Given the description of an element on the screen output the (x, y) to click on. 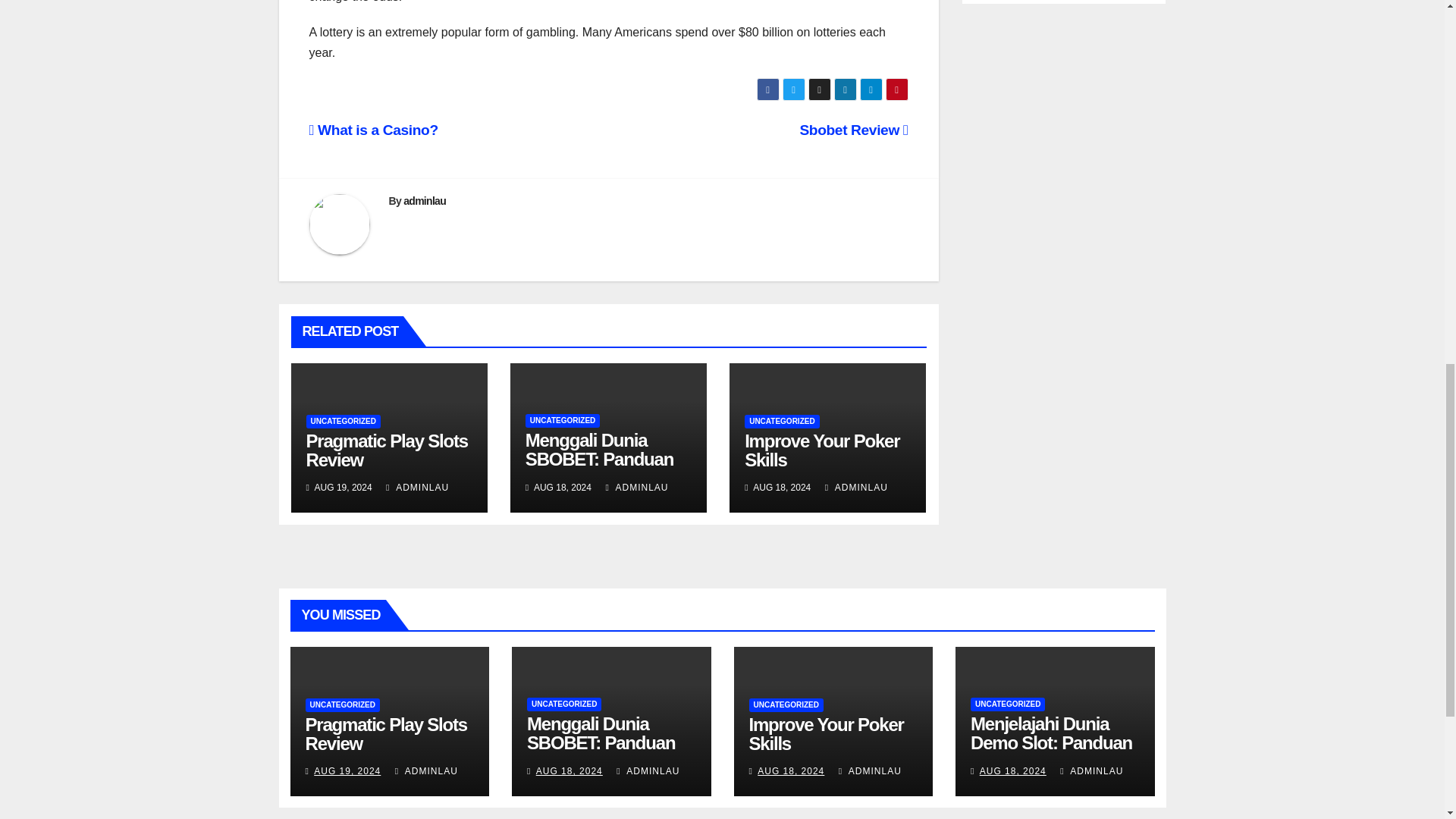
Permalink to: Improve Your Poker Skills (821, 450)
Permalink to: Improve Your Poker Skills (826, 733)
Improve Your Poker Skills (821, 450)
UNCATEGORIZED (562, 420)
Permalink to: Pragmatic Play Slots Review (386, 450)
adminlau (424, 200)
UNCATEGORIZED (342, 421)
UNCATEGORIZED (781, 421)
Permalink to: Pragmatic Play Slots Review (384, 733)
